Given the description of an element on the screen output the (x, y) to click on. 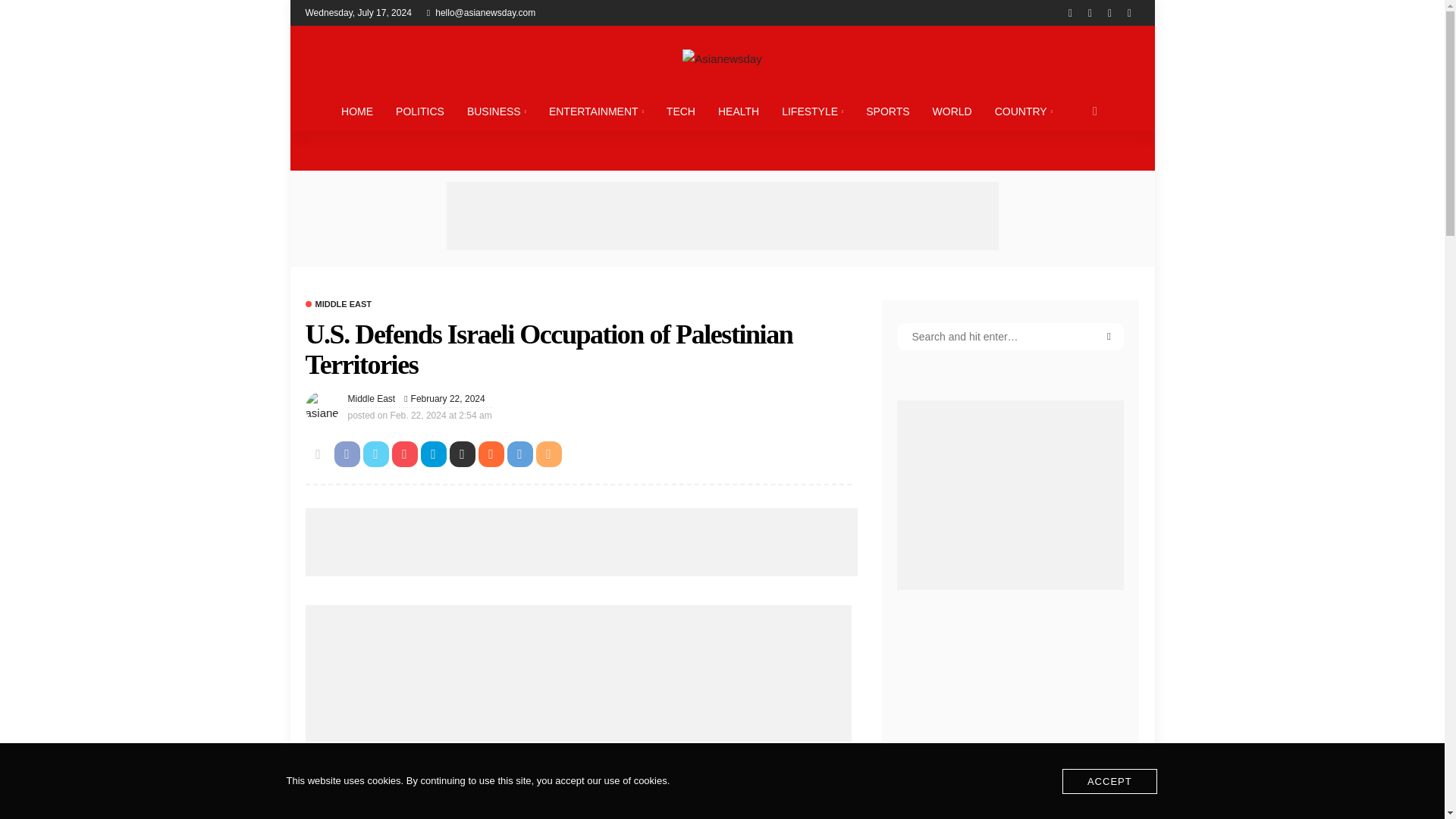
TECH (680, 111)
POLITICS (419, 111)
COUNTRY (1024, 111)
search (1095, 111)
Middle East (370, 398)
Middle East (370, 398)
Advertisement (580, 541)
LIFESTYLE (812, 111)
SPORTS (887, 111)
MIDDLE EAST (337, 304)
Advertisement (577, 787)
Asia Newsday (721, 58)
BUSINESS (496, 111)
HEALTH (738, 111)
HOME (357, 111)
